Given the description of an element on the screen output the (x, y) to click on. 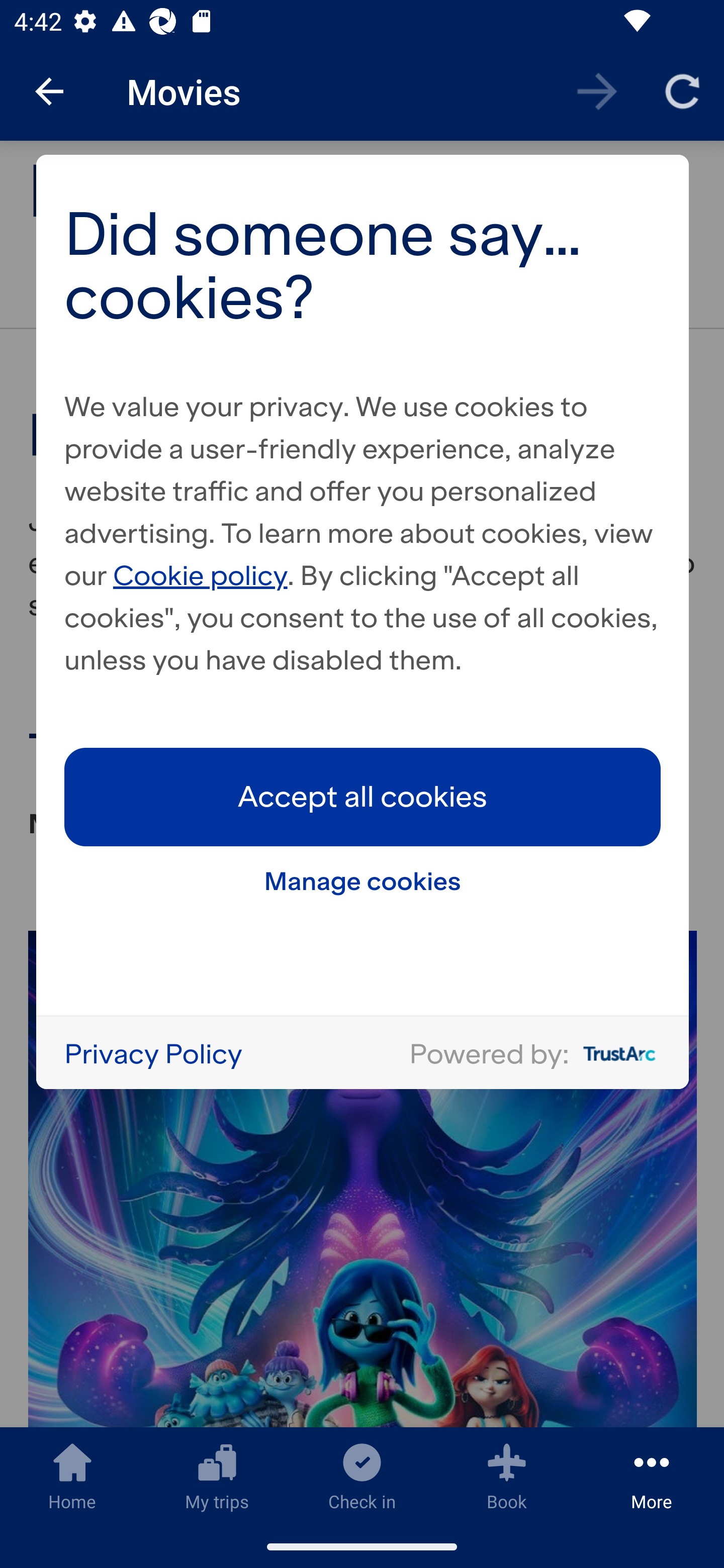
Navigate up (49, 91)
Forward (597, 90)
Reload (681, 90)
Cookie policy (200, 574)
Accept all cookies (362, 797)
Manage cookies (362, 880)
Privacy Policy (152, 1053)
Company logo for TrustArc (614, 1053)
Home (72, 1475)
My trips (216, 1475)
Check in (361, 1475)
Book (506, 1475)
